Given the description of an element on the screen output the (x, y) to click on. 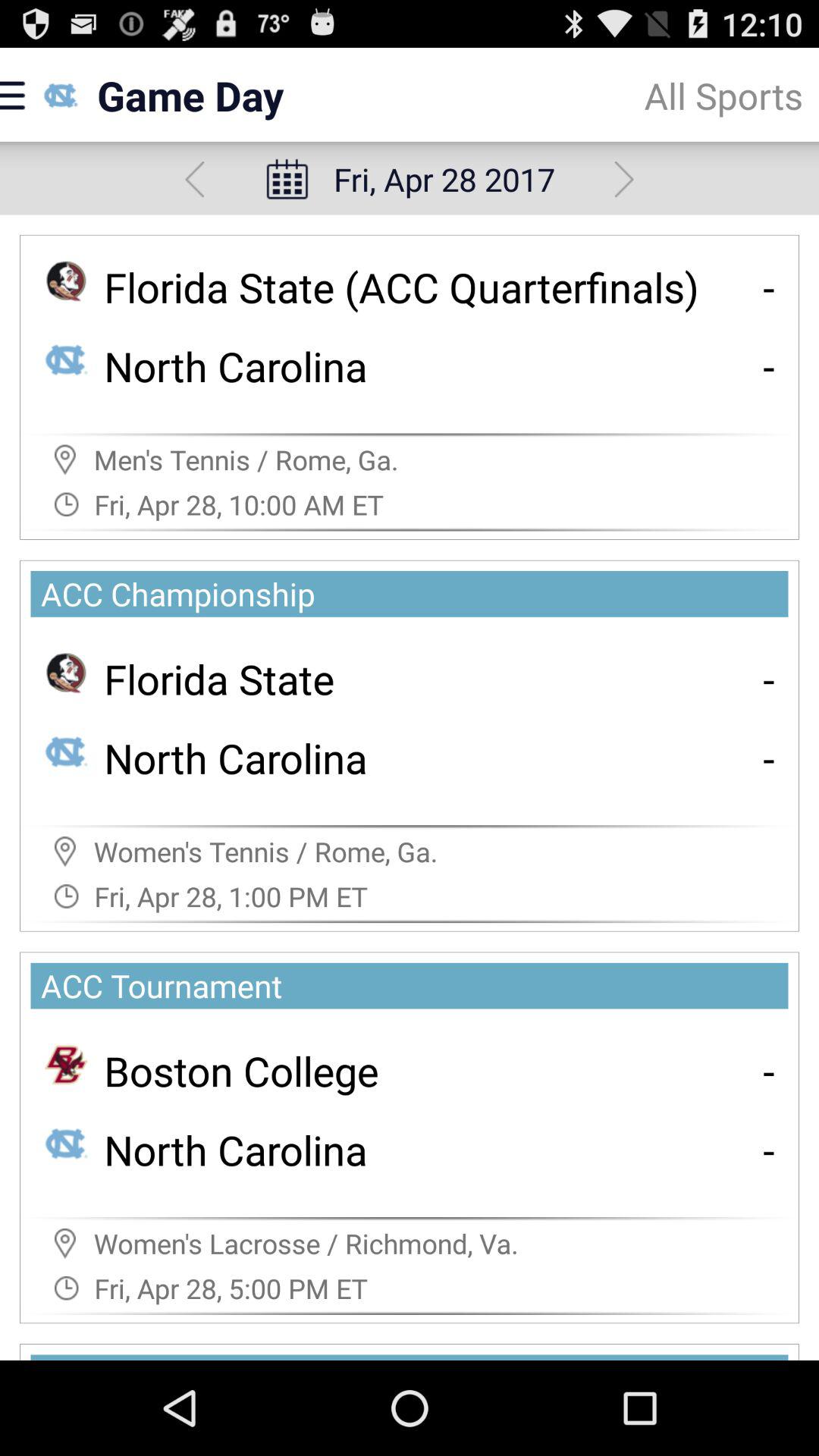
turn off app next to fri apr 28 item (623, 178)
